Given the description of an element on the screen output the (x, y) to click on. 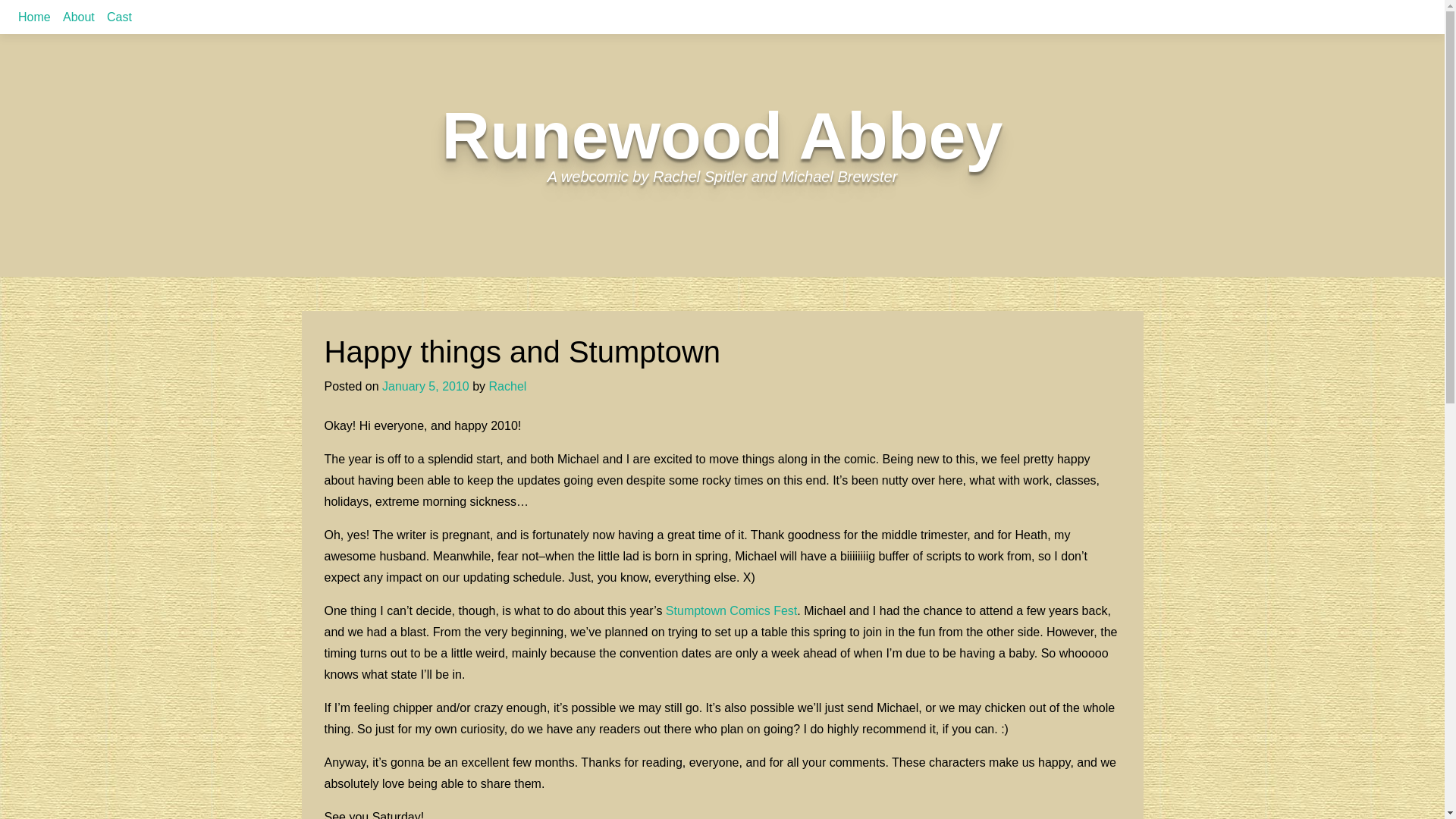
Home (33, 16)
Home (33, 16)
Rachel (508, 386)
About (78, 16)
About (78, 16)
Stumptown Comics Fest (730, 610)
Cast (118, 16)
Cast (118, 16)
January 5, 2010 (424, 386)
